Given the description of an element on the screen output the (x, y) to click on. 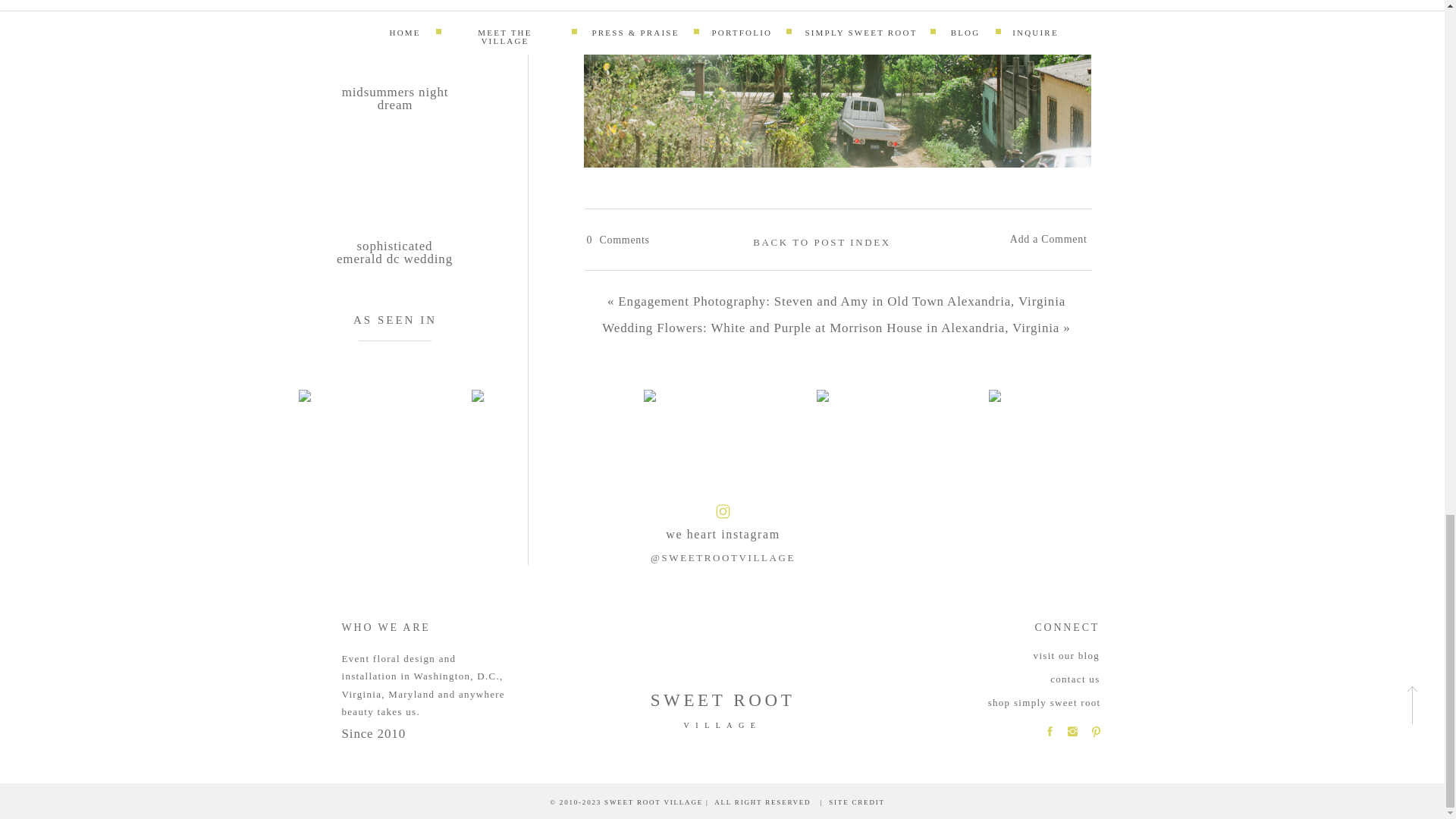
Add a Comment (1038, 245)
BACK TO POST INDEX (822, 249)
sophisticated emerald dc wedding (394, 261)
midsummers night dream (395, 107)
